Given the description of an element on the screen output the (x, y) to click on. 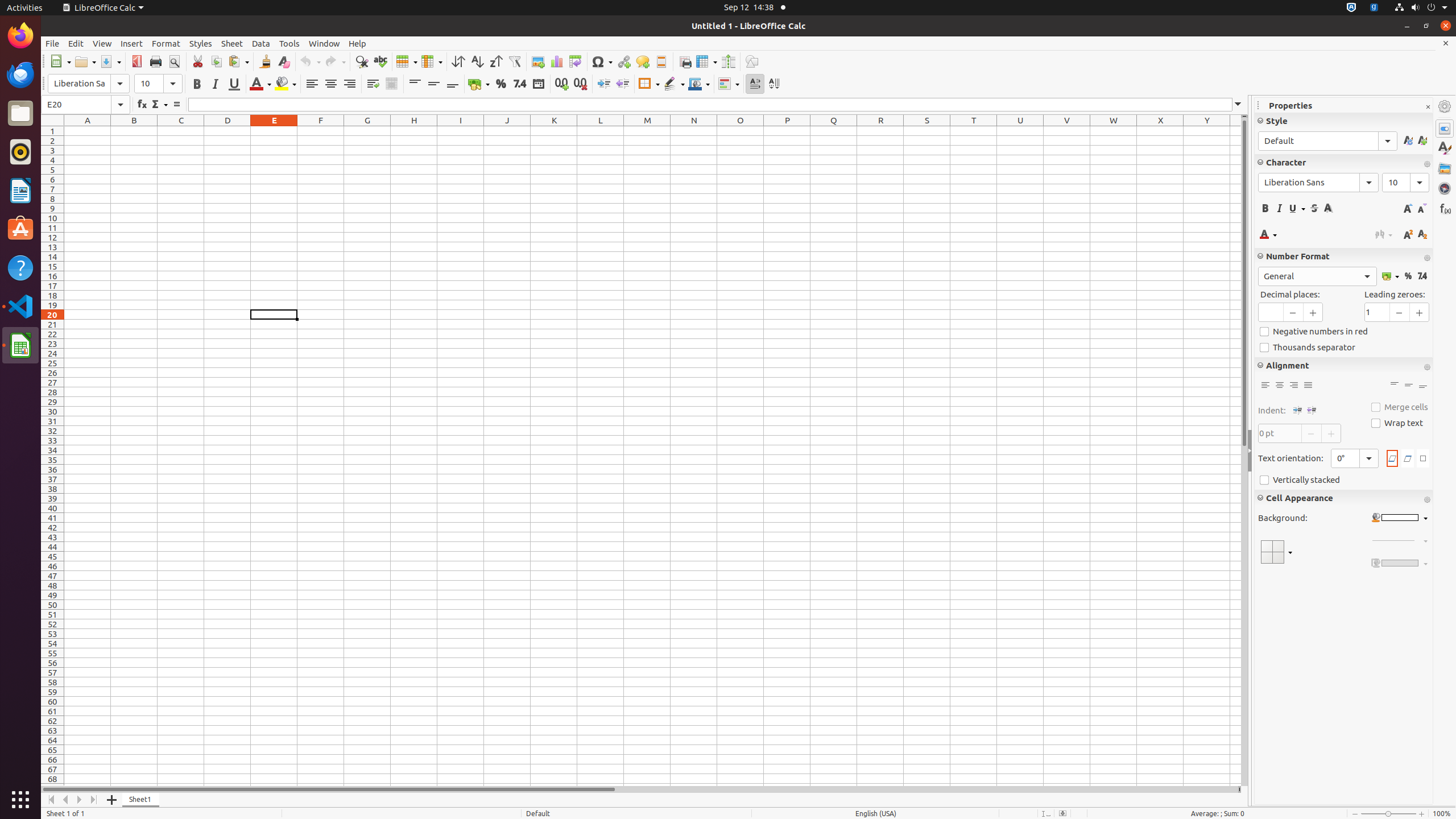
Negative numbers in red Element type: check-box (1343, 331)
:1.21/StatusNotifierItem Element type: menu (1373, 7)
E1 Element type: table-cell (273, 130)
Comment Element type: push-button (642, 61)
Align Center Element type: toggle-button (1279, 385)
